Given the description of an element on the screen output the (x, y) to click on. 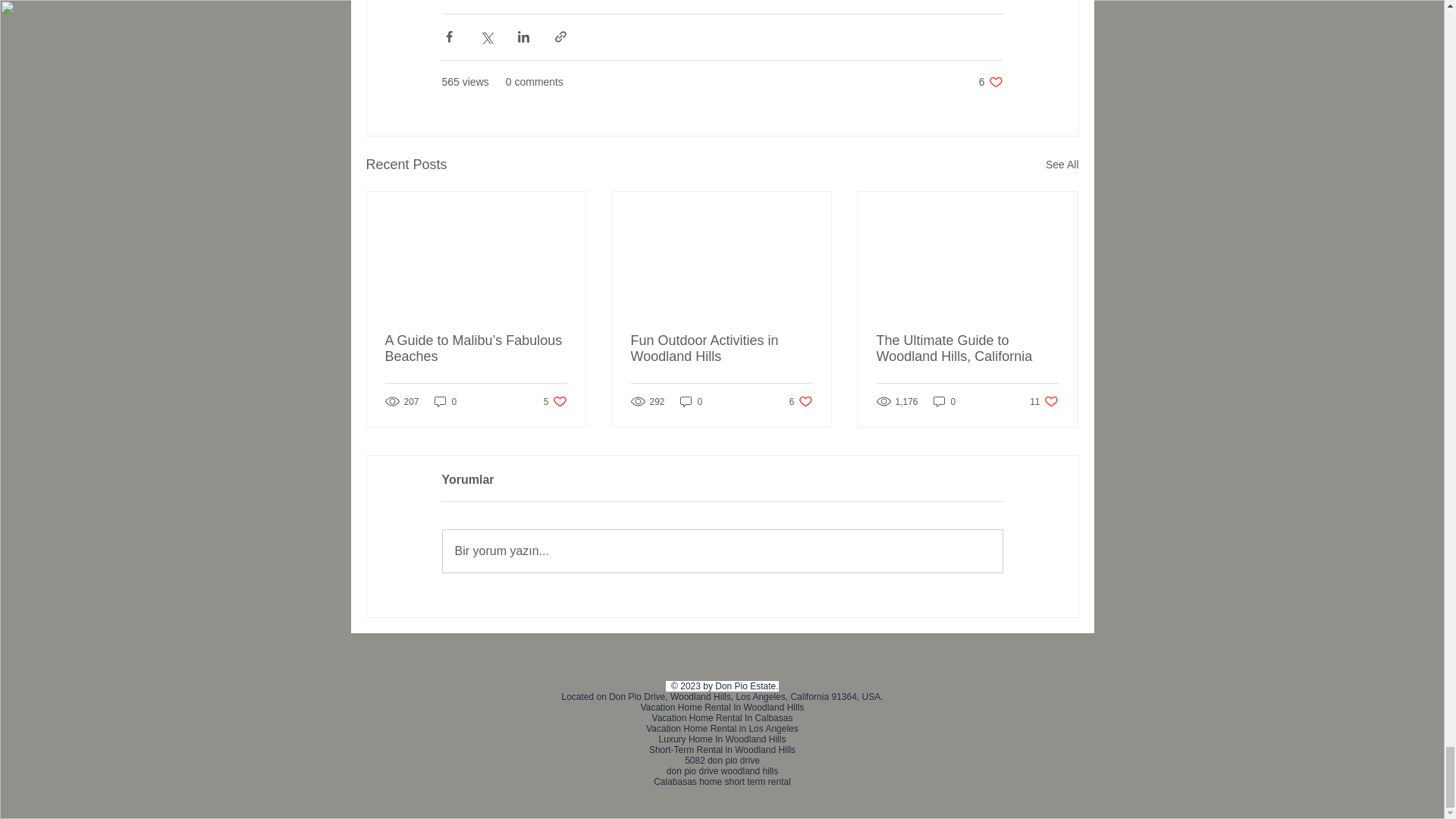
Fun Outdoor Activities in Woodland Hills (721, 348)
0 (445, 400)
0 (691, 400)
See All (990, 82)
